Given the description of an element on the screen output the (x, y) to click on. 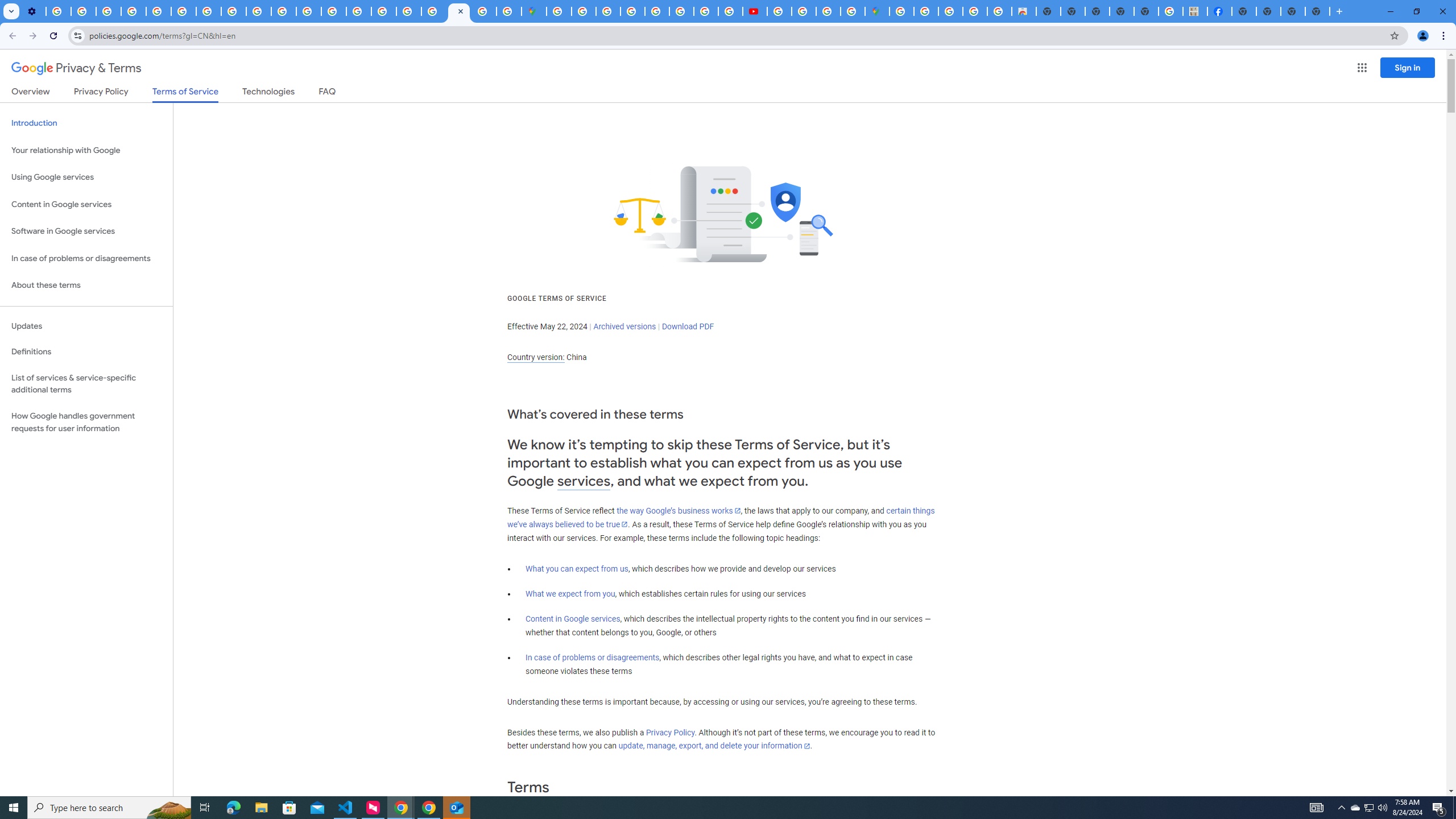
update, manage, export, and delete your information (714, 746)
Delete photos & videos - Computer - Google Photos Help (57, 11)
Terms and Conditions (656, 11)
Terms of Service (184, 94)
Content in Google services (572, 618)
Learn how to find your photos - Google Photos Help (83, 11)
Archived versions (624, 326)
Privacy Policy (669, 732)
